Given the description of an element on the screen output the (x, y) to click on. 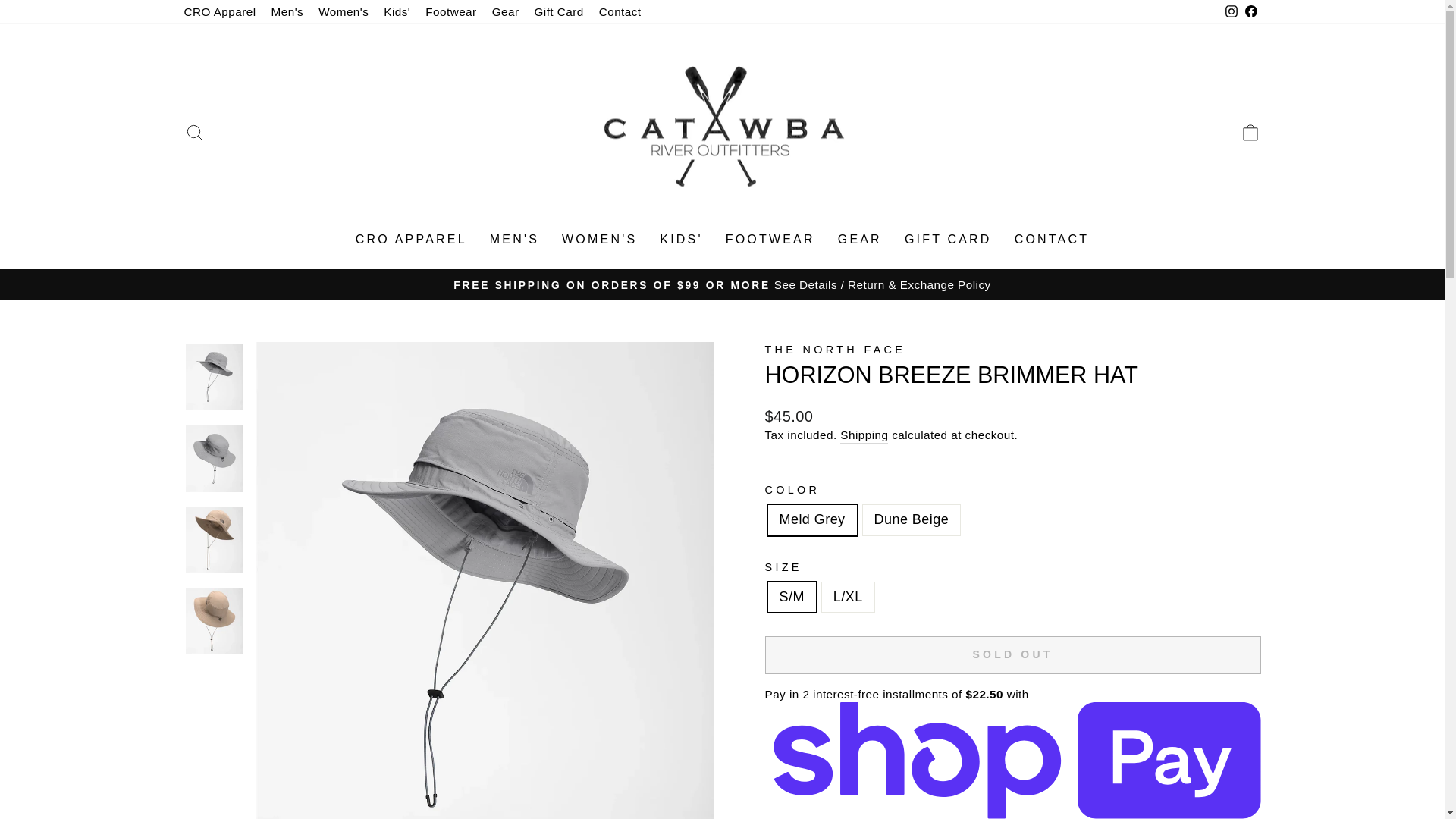
CRO Apparel (219, 11)
Kids' (396, 11)
CRO APPAREL (411, 239)
WOMEN'S (598, 239)
Men's (287, 11)
MEN'S (514, 239)
Contact (620, 11)
The North Face (834, 349)
Gift Card (558, 11)
instagram (1231, 10)
Women's (1249, 132)
Dune Beige (194, 132)
